Given the description of an element on the screen output the (x, y) to click on. 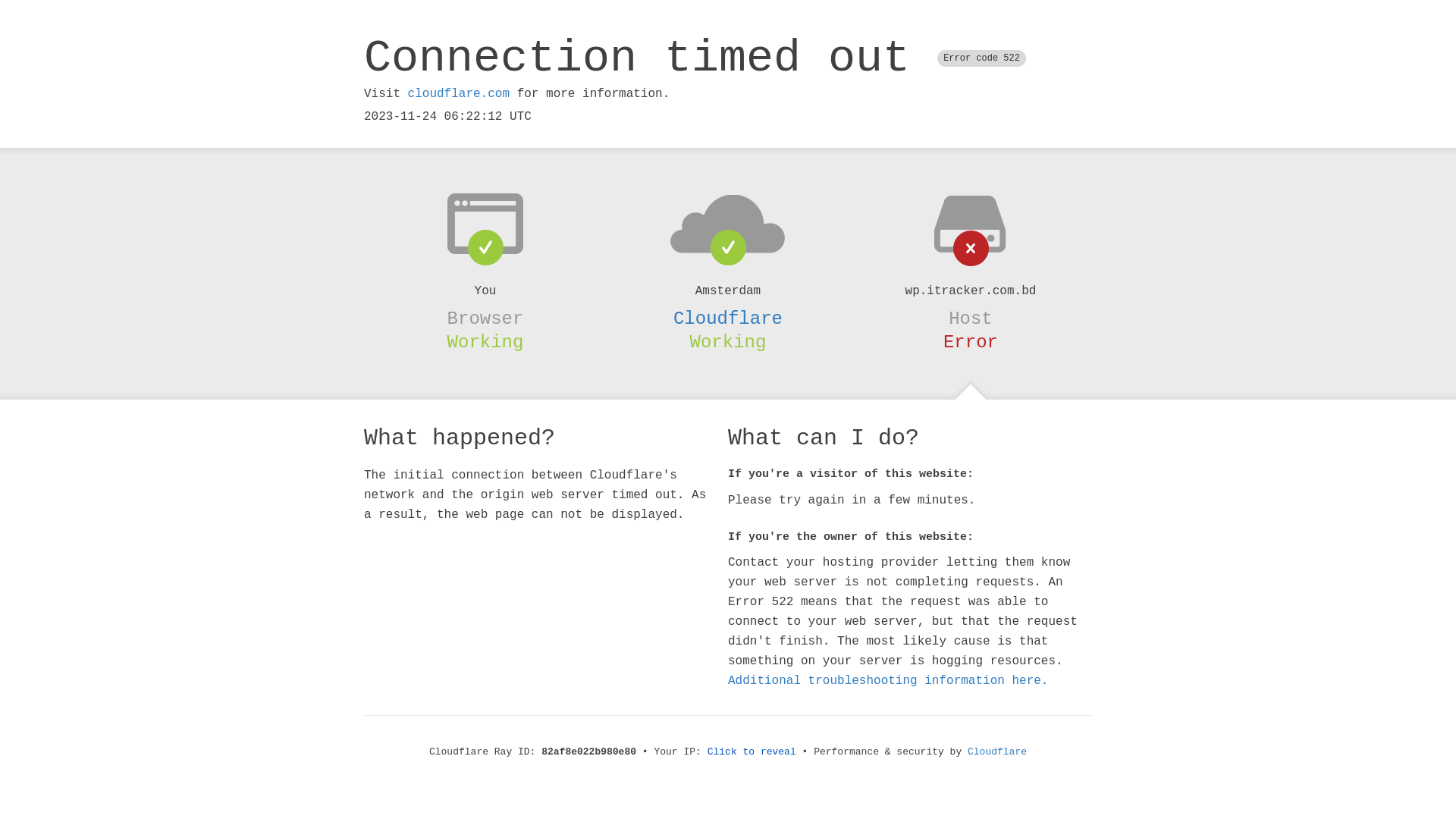
Cloudflare Element type: text (996, 751)
Click to reveal Element type: text (751, 751)
Cloudflare Element type: text (727, 318)
Additional troubleshooting information here. Element type: text (888, 680)
cloudflare.com Element type: text (458, 93)
